Given the description of an element on the screen output the (x, y) to click on. 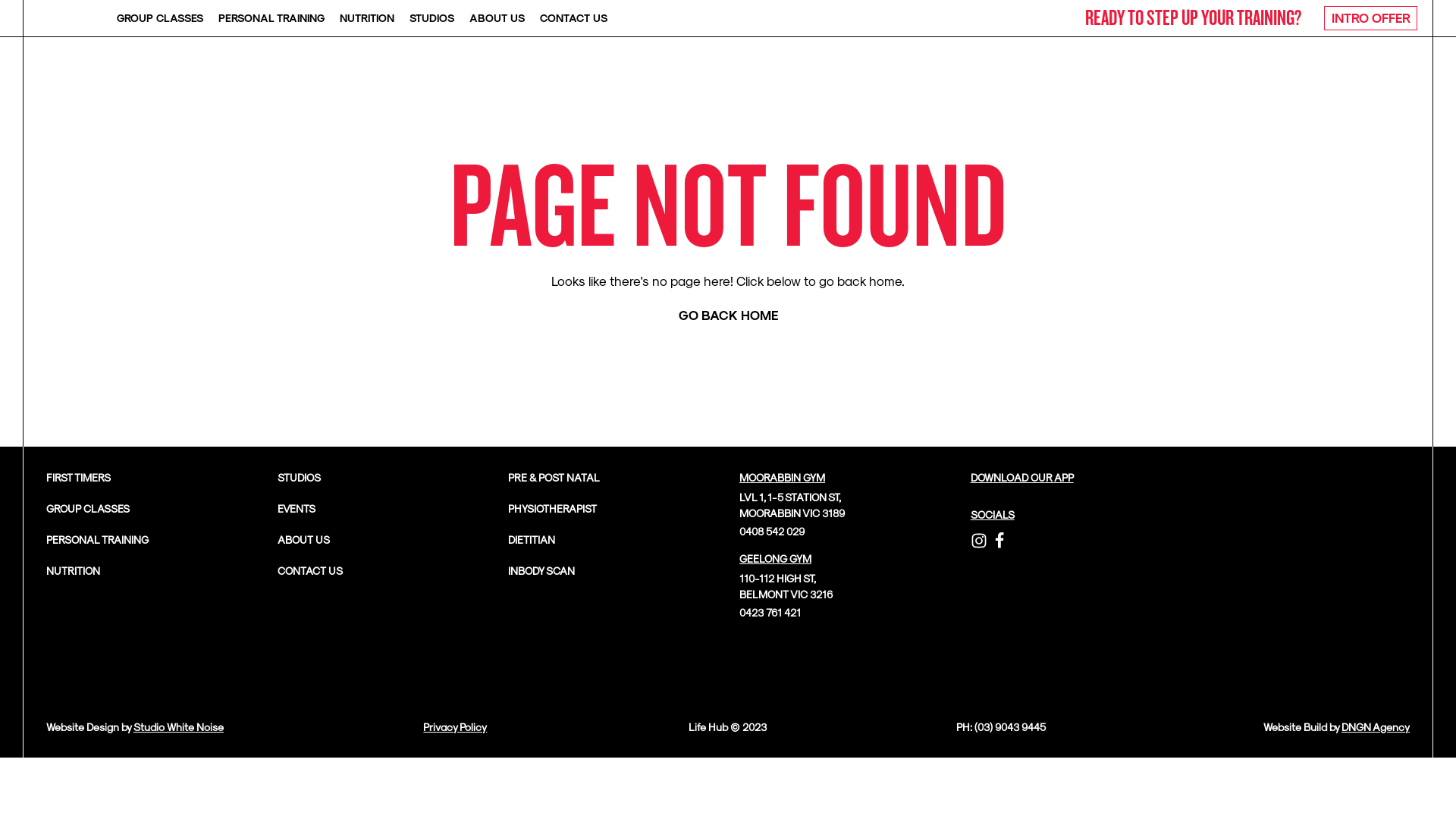
Privacy Policy Element type: text (454, 726)
INTRO OFFER Element type: text (1370, 18)
ABOUT US Element type: text (496, 17)
0423 761 421 Element type: text (769, 612)
PHYSIOTHERAPIST Element type: text (552, 508)
INBODY SCAN Element type: text (541, 570)
EVENTS Element type: text (296, 508)
GO BACK HOME Element type: text (727, 315)
PRE & POST NATAL Element type: text (553, 477)
Studio White Noise Element type: text (178, 726)
FIRST TIMERS Element type: text (78, 477)
CONTACT US Element type: text (573, 17)
PERSONAL TRAINING Element type: text (271, 17)
LVL 1, 1-5 STATION ST,
MOORABBIN VIC 3189 Element type: text (791, 504)
NUTRITION Element type: text (73, 570)
ABOUT US Element type: text (303, 539)
GROUP CLASSES Element type: text (87, 508)
DIETITIAN Element type: text (531, 539)
0408 542 029 Element type: text (771, 531)
DNGN Agency Element type: text (1375, 726)
110-112 HIGH ST,
BELMONT VIC 3216 Element type: text (785, 586)
GROUP CLASSES Element type: text (159, 17)
NUTRITION Element type: text (366, 17)
PERSONAL TRAINING Element type: text (97, 539)
CONTACT US Element type: text (309, 570)
STUDIOS Element type: text (431, 17)
PH: (03) 9043 9445 Element type: text (1000, 726)
STUDIOS Element type: text (298, 477)
